Given the description of an element on the screen output the (x, y) to click on. 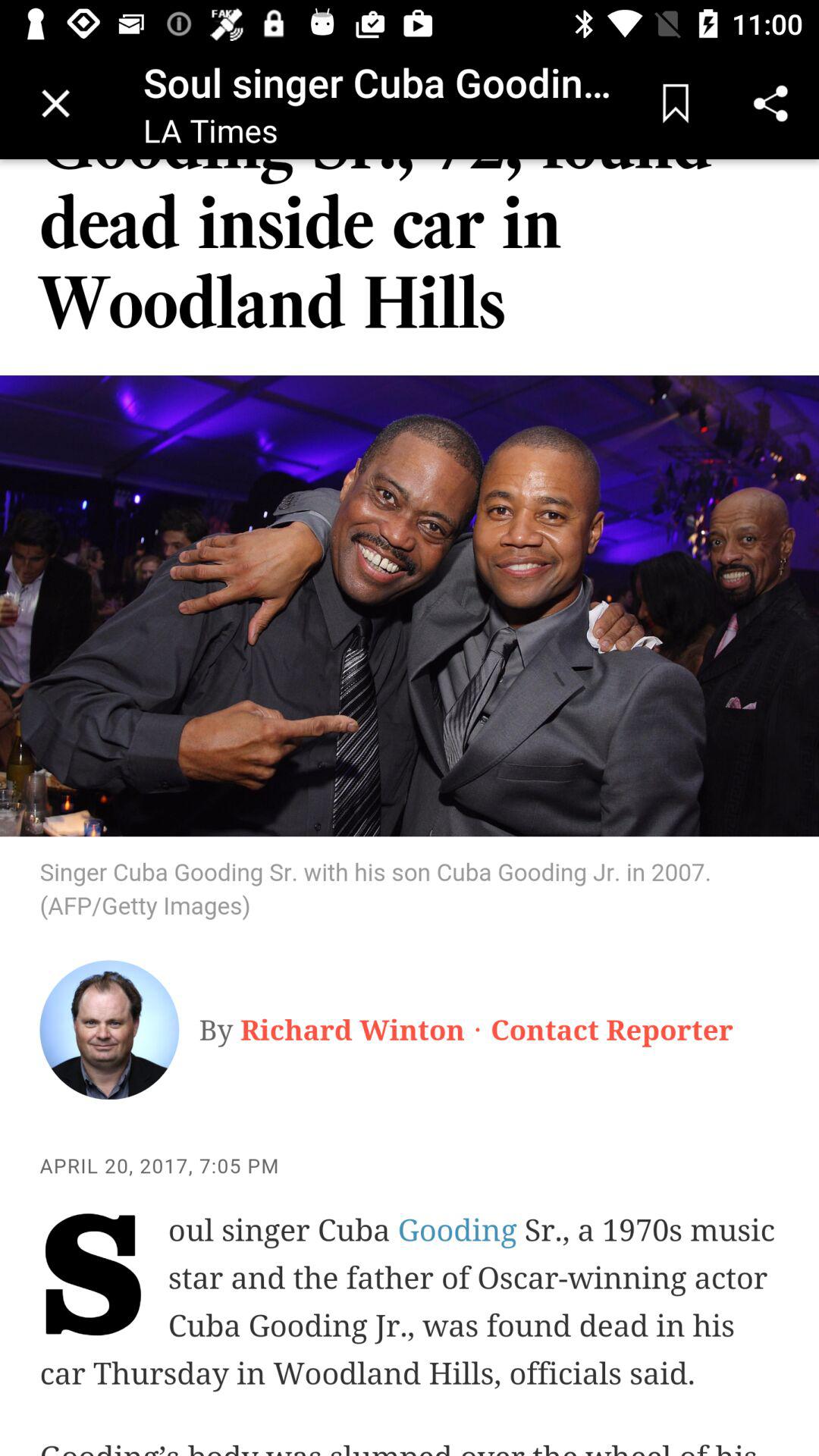
click on second icon from the top right corner of the page (675, 103)
